Given the description of an element on the screen output the (x, y) to click on. 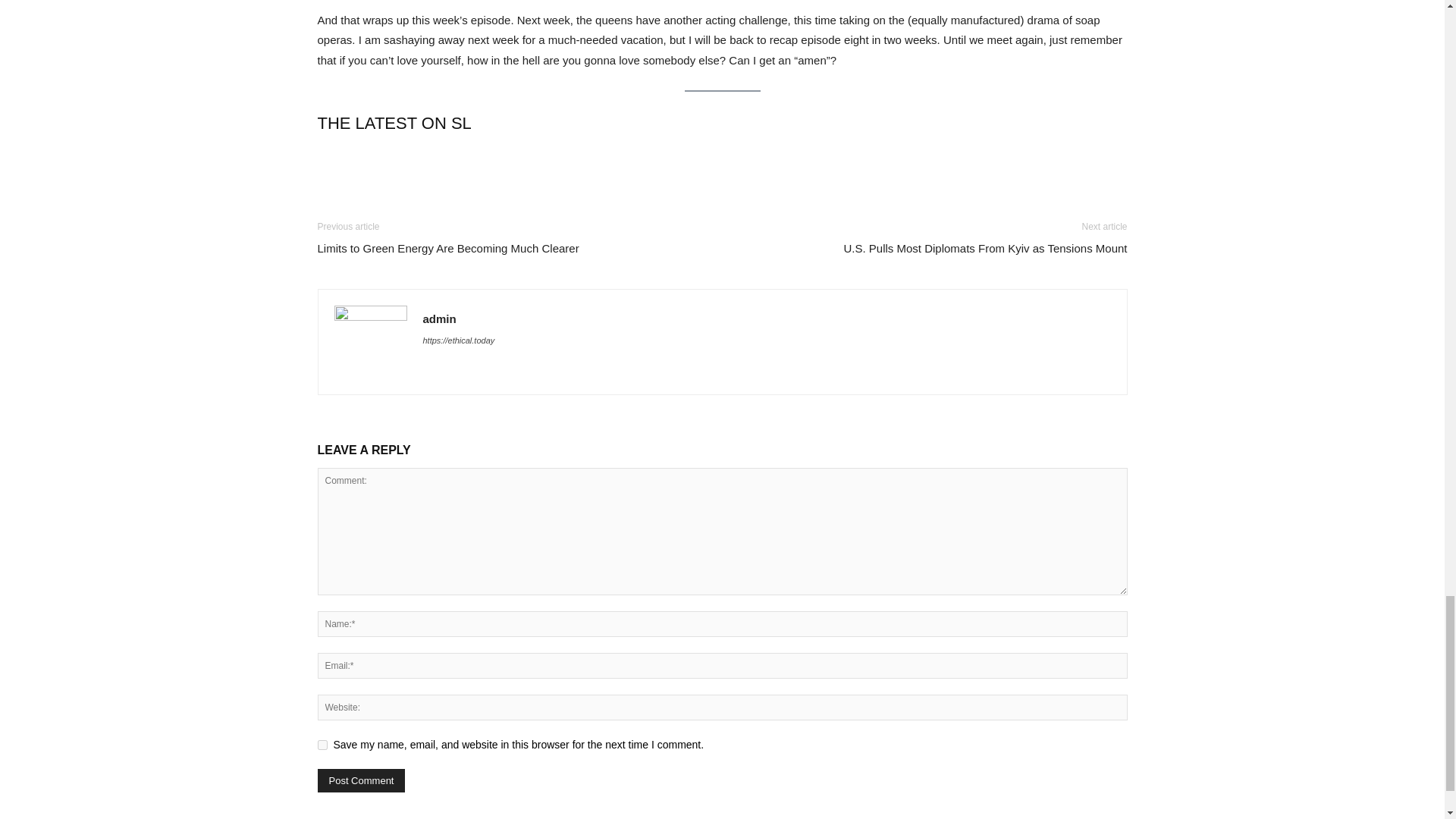
Post Comment (360, 780)
yes (321, 745)
